Given the description of an element on the screen output the (x, y) to click on. 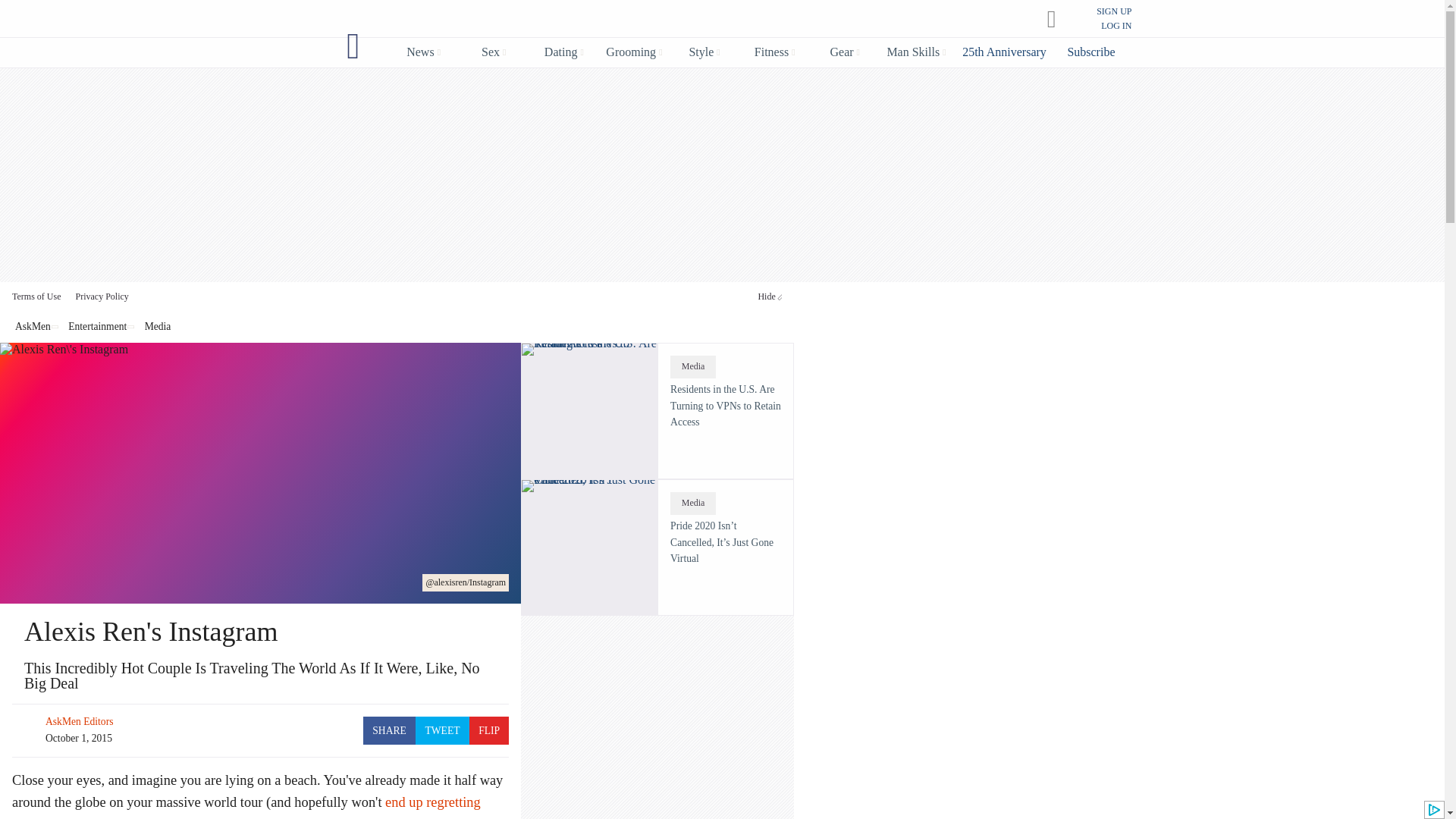
SIGN UP (1113, 11)
LOG IN (1115, 25)
AskMen (706, 20)
GuyQ (352, 45)
